Given the description of an element on the screen output the (x, y) to click on. 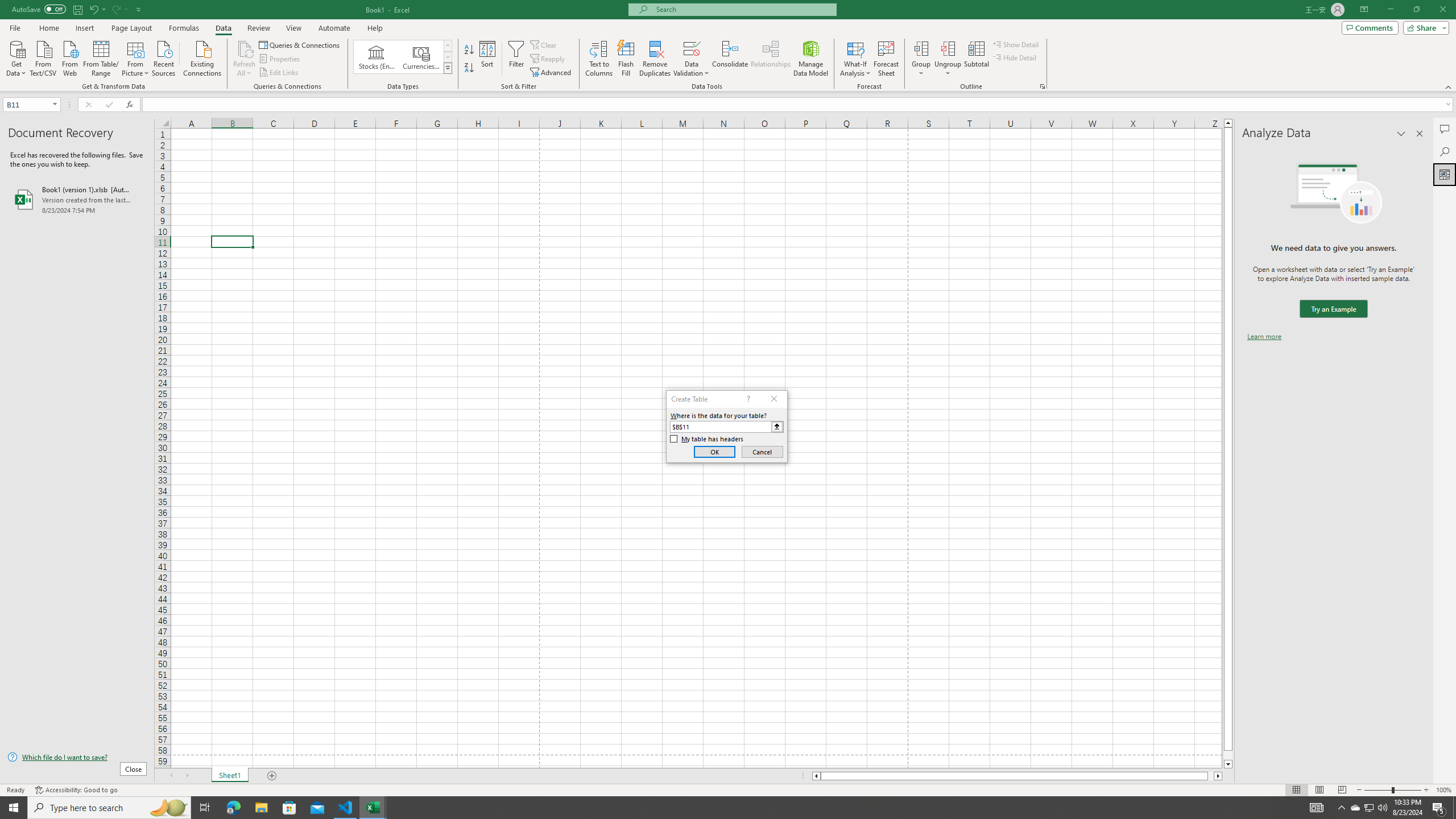
Queries & Connections (300, 44)
Group and Outline Settings (1042, 85)
Book1 (version 1).xlsb  [AutoRecovered] (77, 199)
Show Detail (1016, 44)
